Given the description of an element on the screen output the (x, y) to click on. 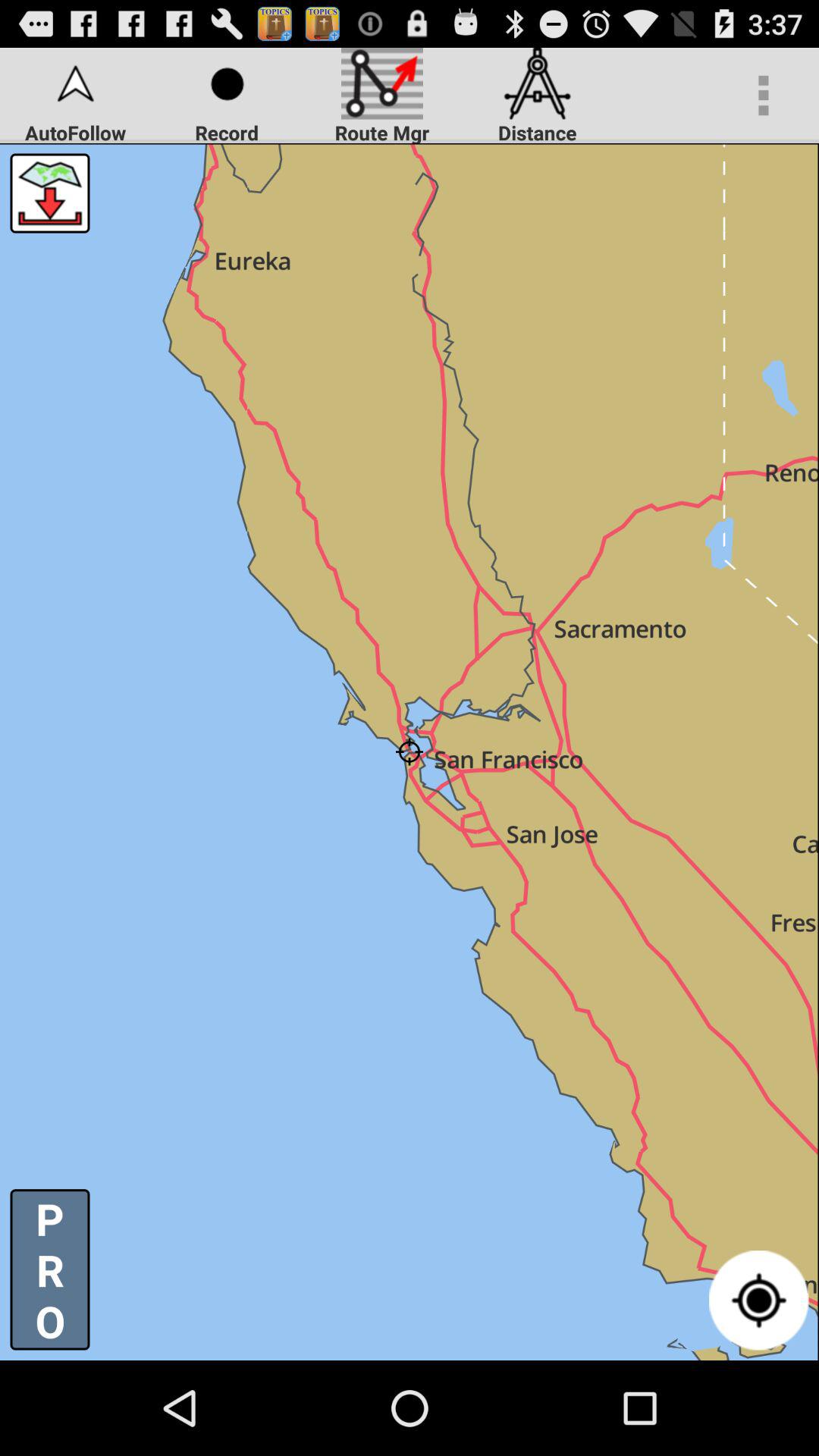
press the icon at the top right corner (763, 95)
